Given the description of an element on the screen output the (x, y) to click on. 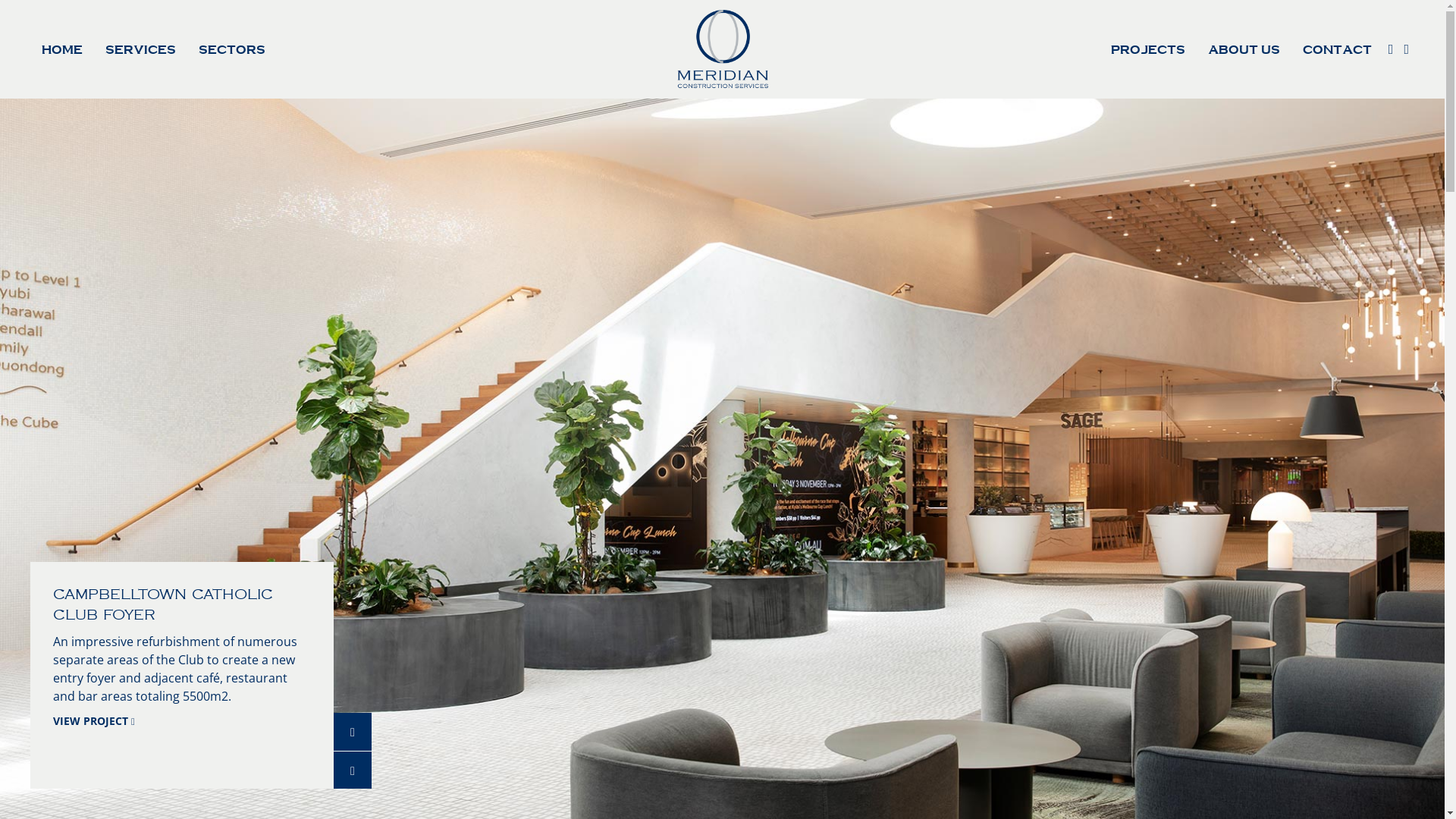
HOME Element type: text (62, 50)
CONTACT Element type: text (1337, 50)
SECTORS Element type: text (231, 50)
ABOUT US Element type: text (1243, 50)
SERVICES Element type: text (140, 50)
VIEW PROJECT Element type: text (93, 720)
PROJECTS Element type: text (1147, 50)
